Given the description of an element on the screen output the (x, y) to click on. 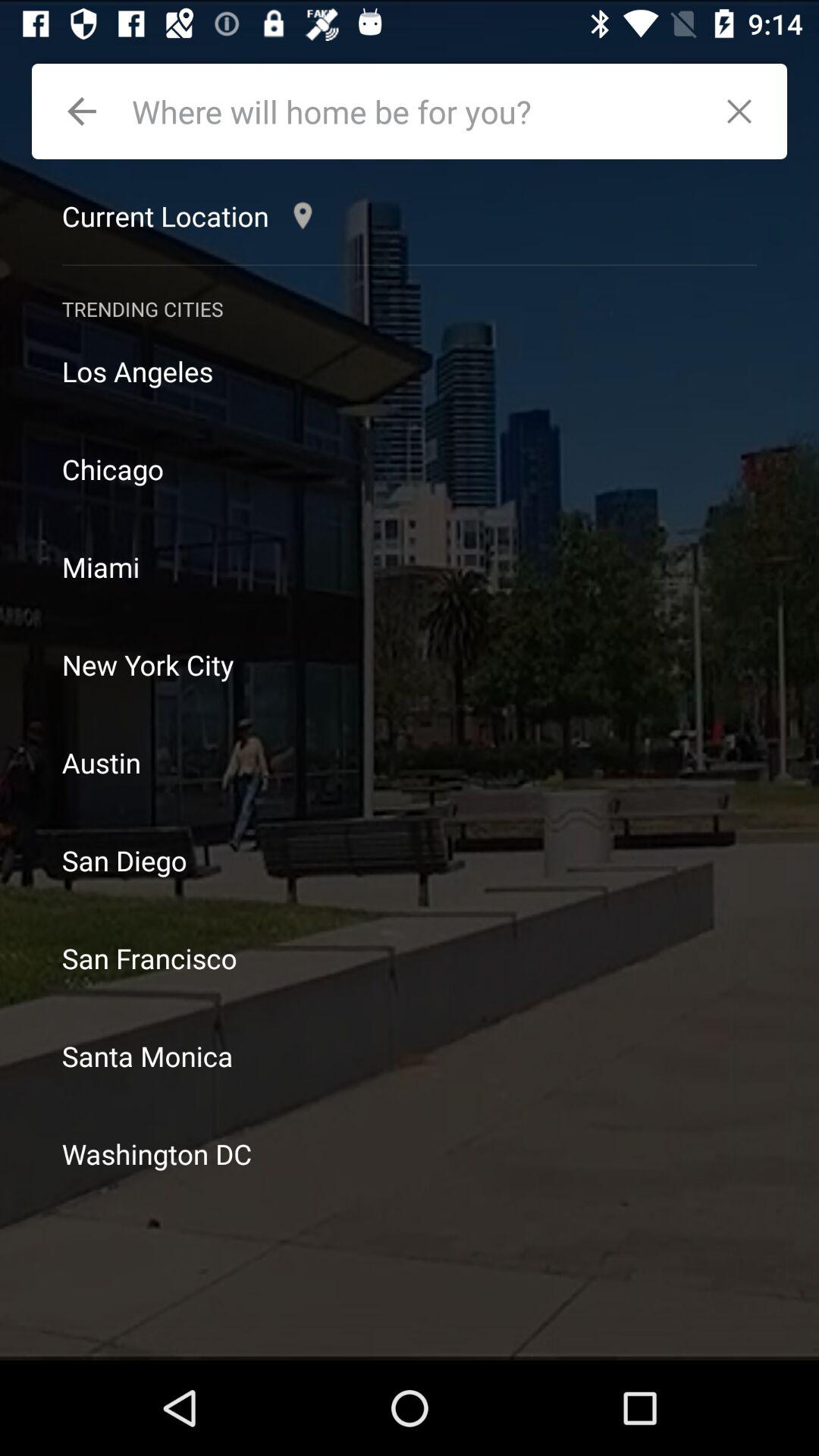
click chicago icon (409, 469)
